Given the description of an element on the screen output the (x, y) to click on. 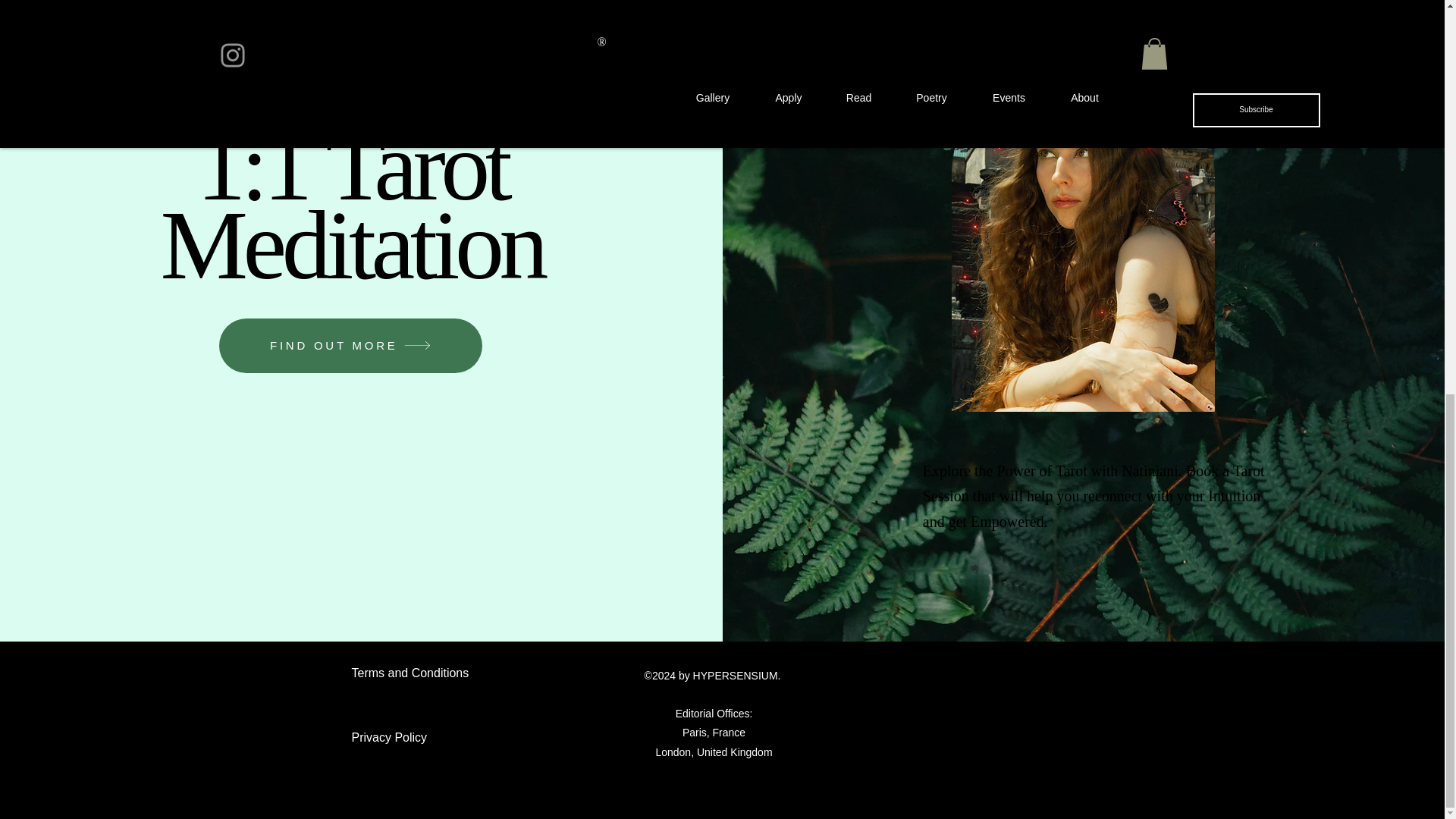
FIND OUT MORE (350, 345)
Terms and Conditions (410, 672)
Privacy Policy (390, 737)
